Given the description of an element on the screen output the (x, y) to click on. 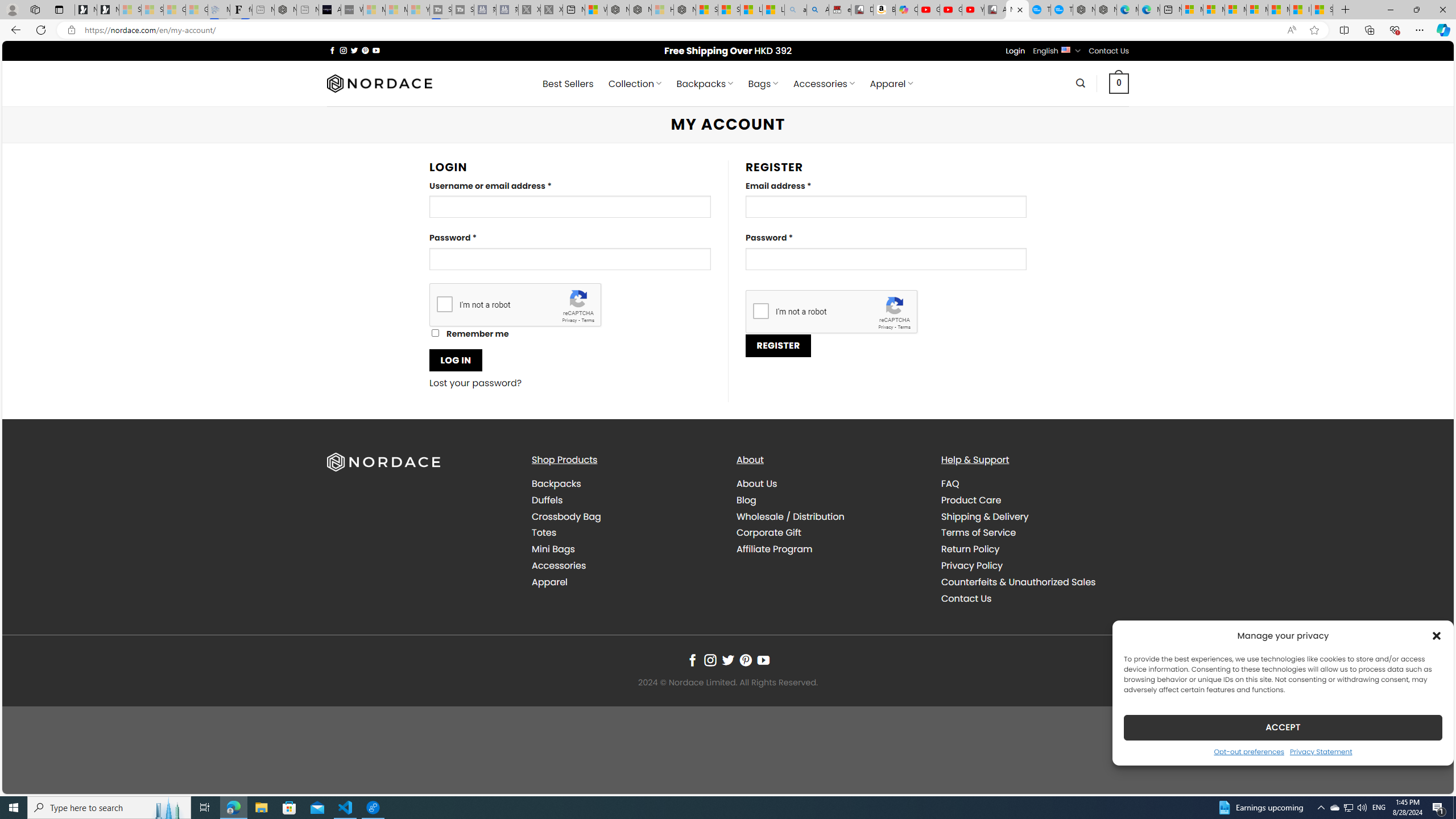
The most popular Google 'how to' searches (1061, 9)
  0   (1118, 83)
Follow on Facebook (691, 659)
AI Voice Changer for PC and Mac - Voice.ai (330, 9)
Nordace - Nordace Siena Is Not An Ordinary Backpack (684, 9)
amazon - Search - Sleeping (795, 9)
Privacy (885, 326)
Follow on Instagram (710, 659)
I'm not a robot (760, 310)
